Given the description of an element on the screen output the (x, y) to click on. 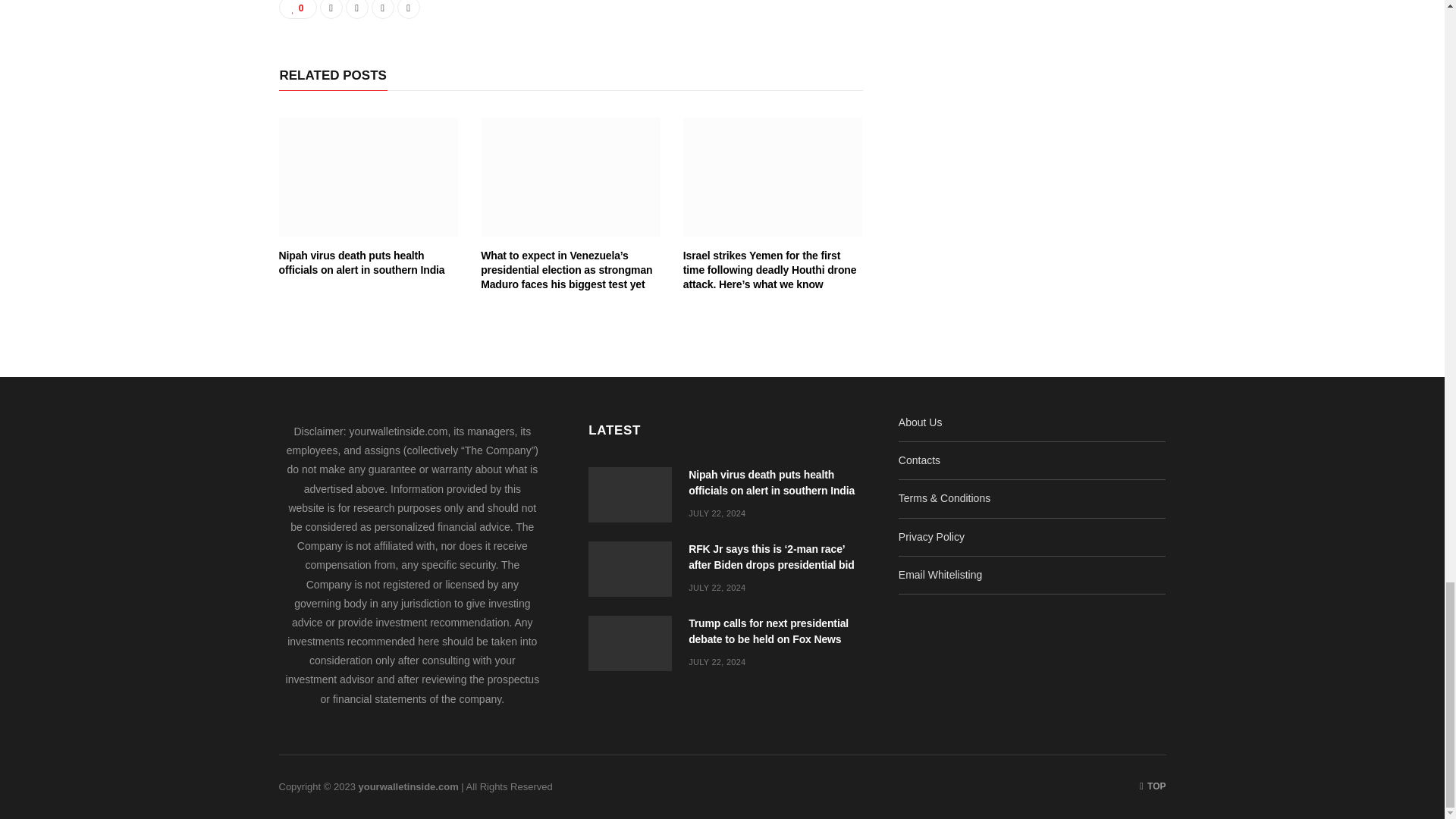
0 (298, 9)
